Given the description of an element on the screen output the (x, y) to click on. 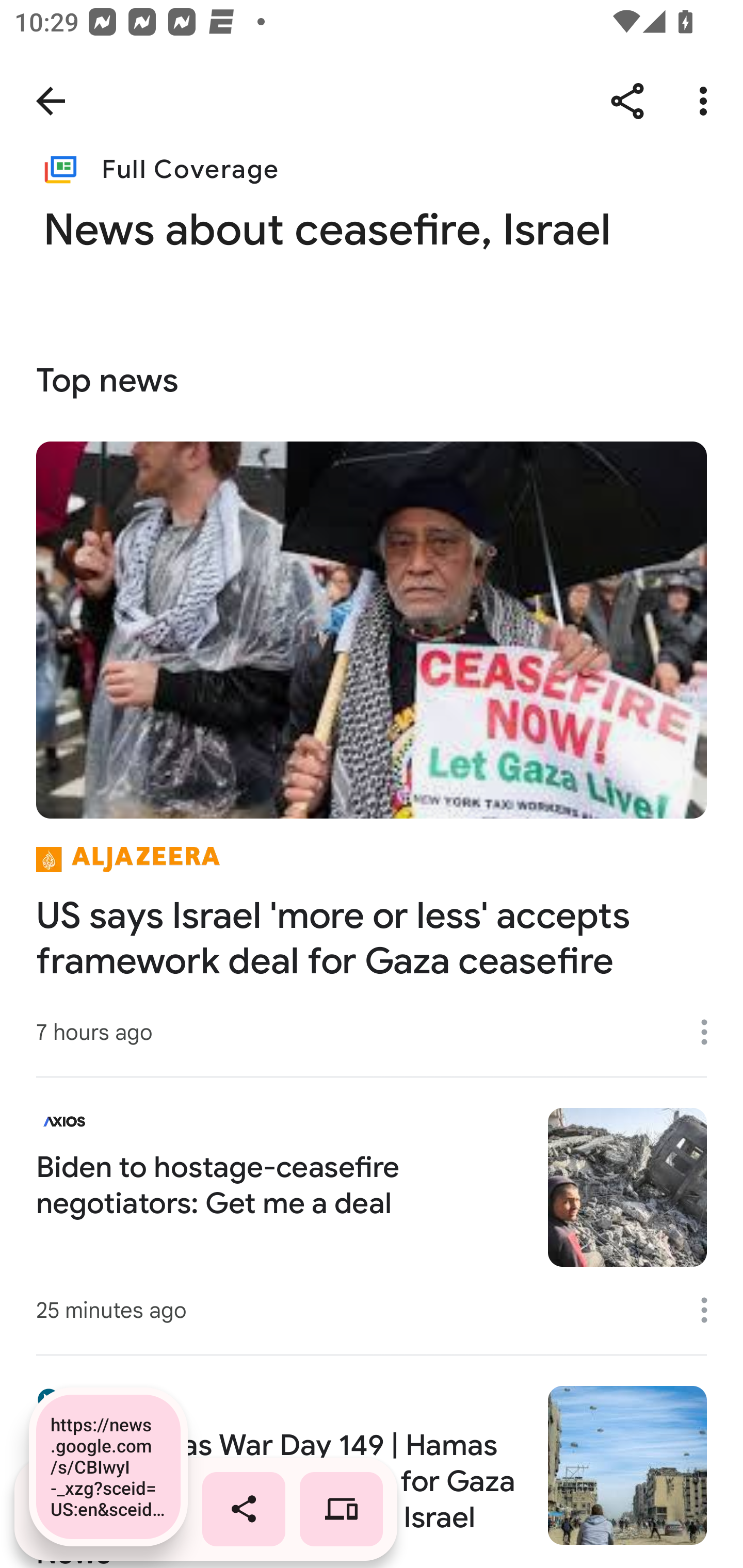
Navigate up (50, 101)
Share (626, 101)
More options (706, 101)
More options (711, 1032)
More options (711, 1309)
